Given the description of an element on the screen output the (x, y) to click on. 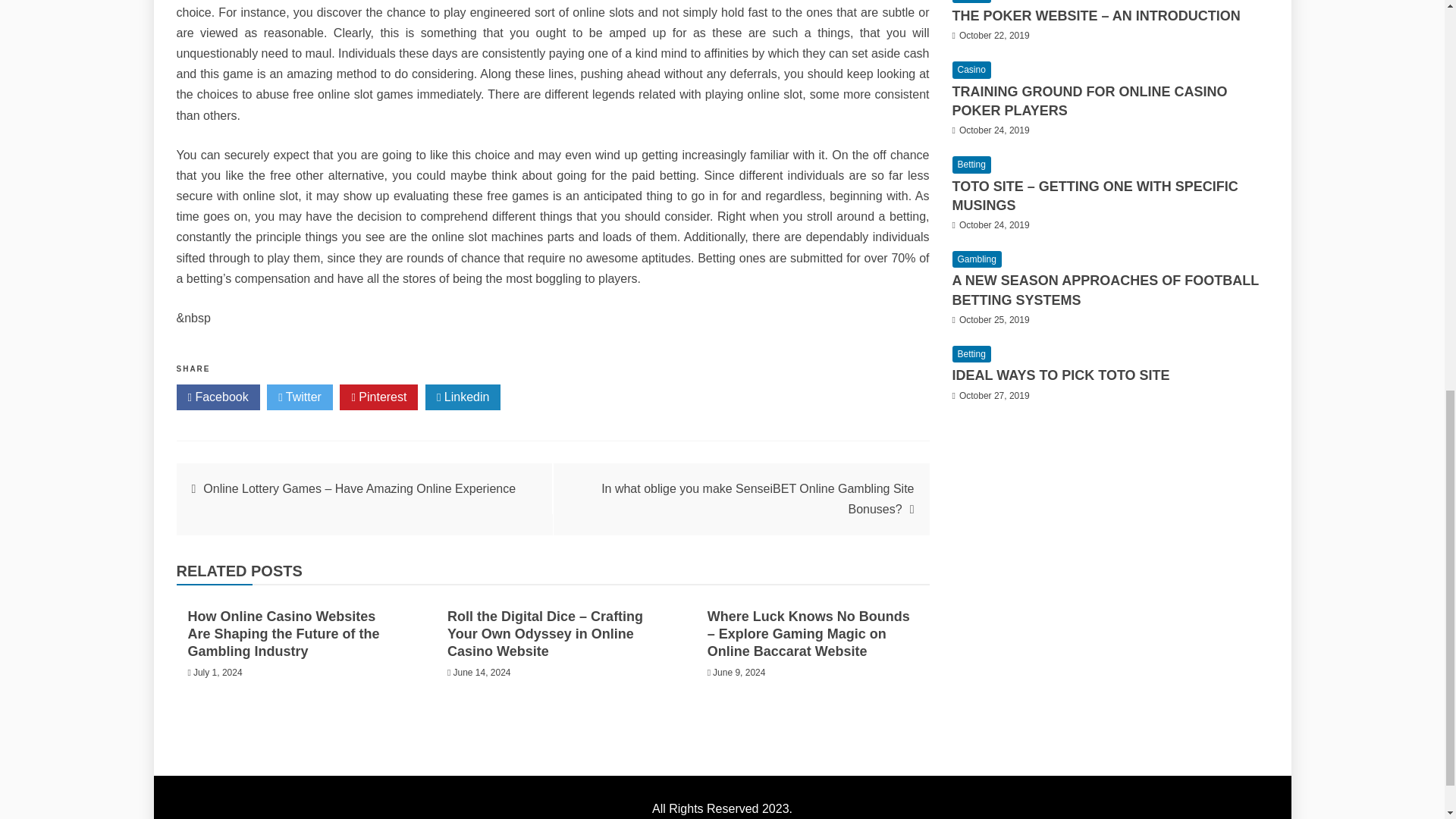
July 1, 2024 (218, 672)
June 14, 2024 (481, 672)
Linkedin (462, 397)
Twitter (299, 397)
Facebook (217, 397)
Pinterest (378, 397)
June 9, 2024 (739, 672)
